Given the description of an element on the screen output the (x, y) to click on. 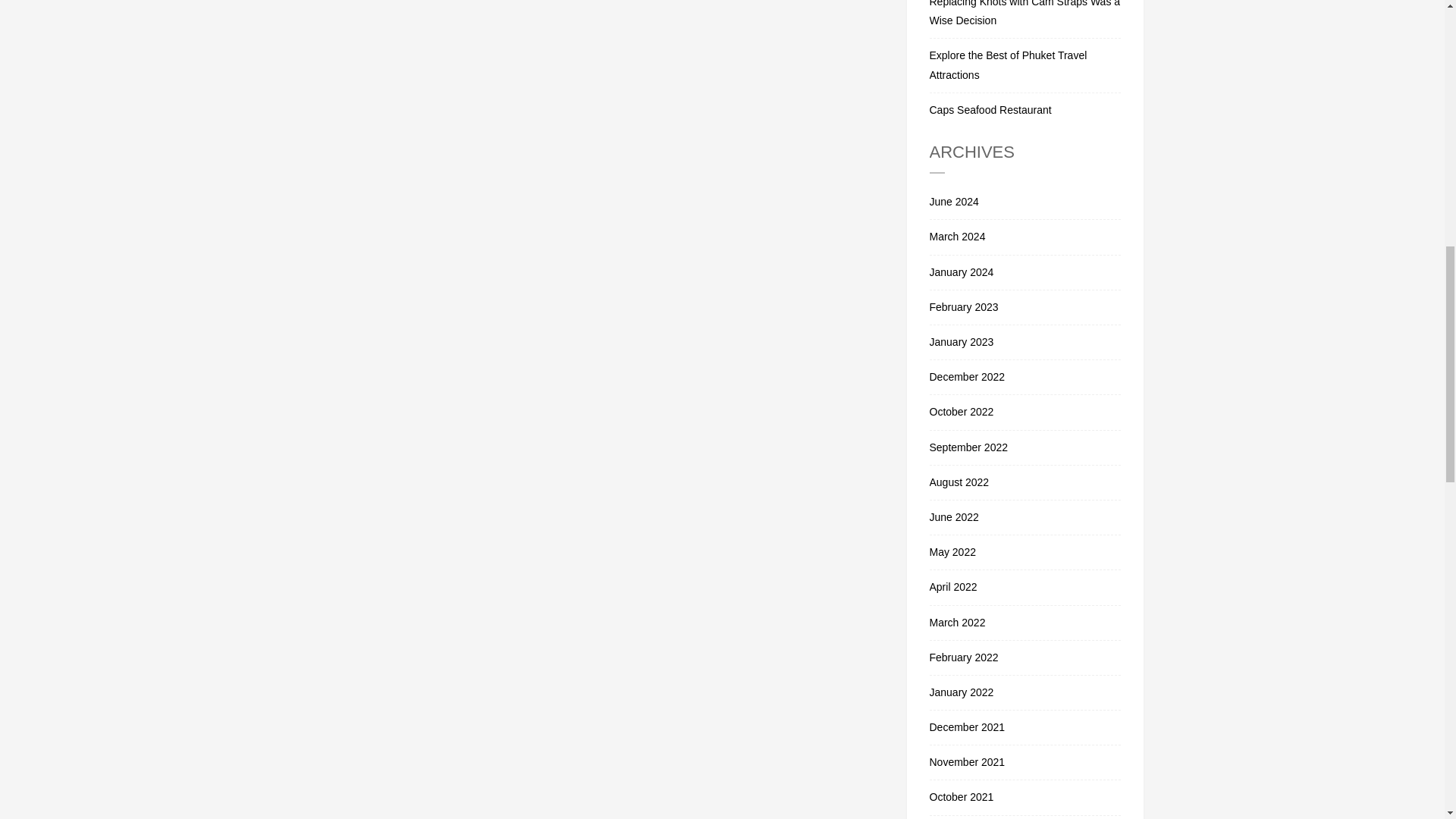
Caps Seafood Restaurant (1025, 106)
Explore the Best of Phuket Travel Attractions (1025, 65)
Replacing Knots with Cam Straps Was a Wise Decision (1025, 19)
